Given the description of an element on the screen output the (x, y) to click on. 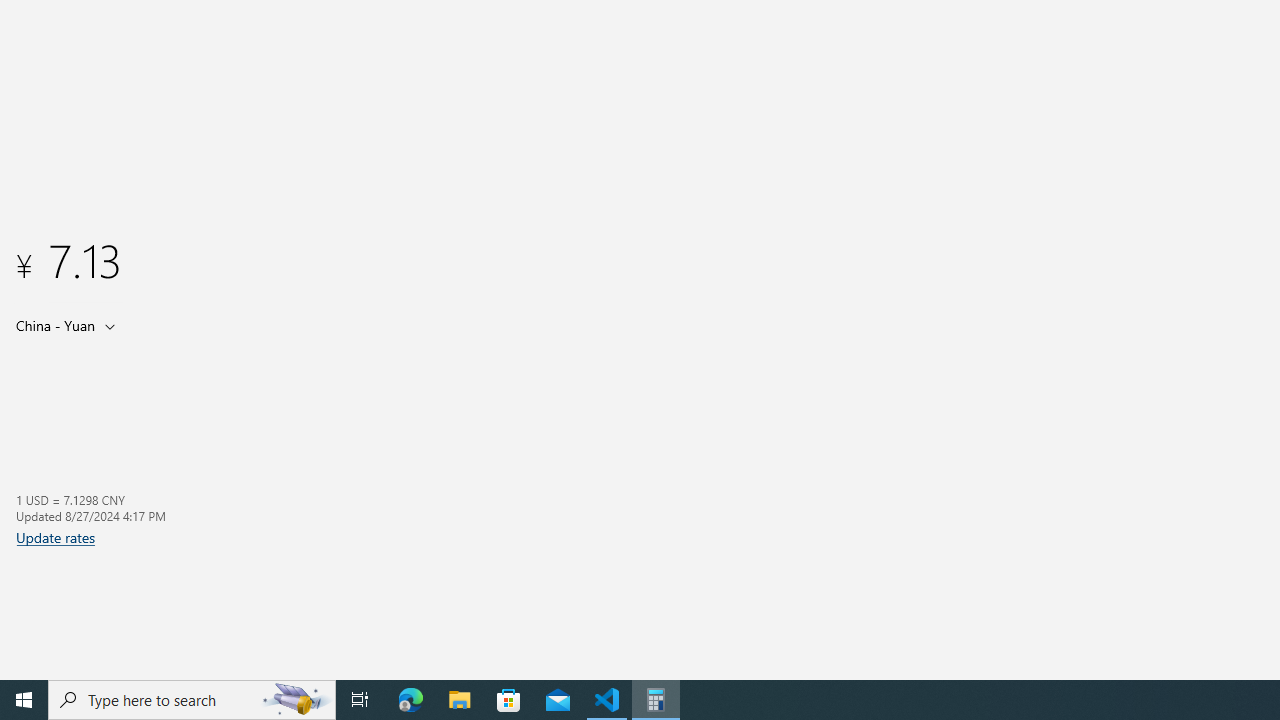
Output unit (69, 325)
Update rates (55, 537)
Calculator - 1 running window (656, 699)
China Yuan (53, 325)
